Given the description of an element on the screen output the (x, y) to click on. 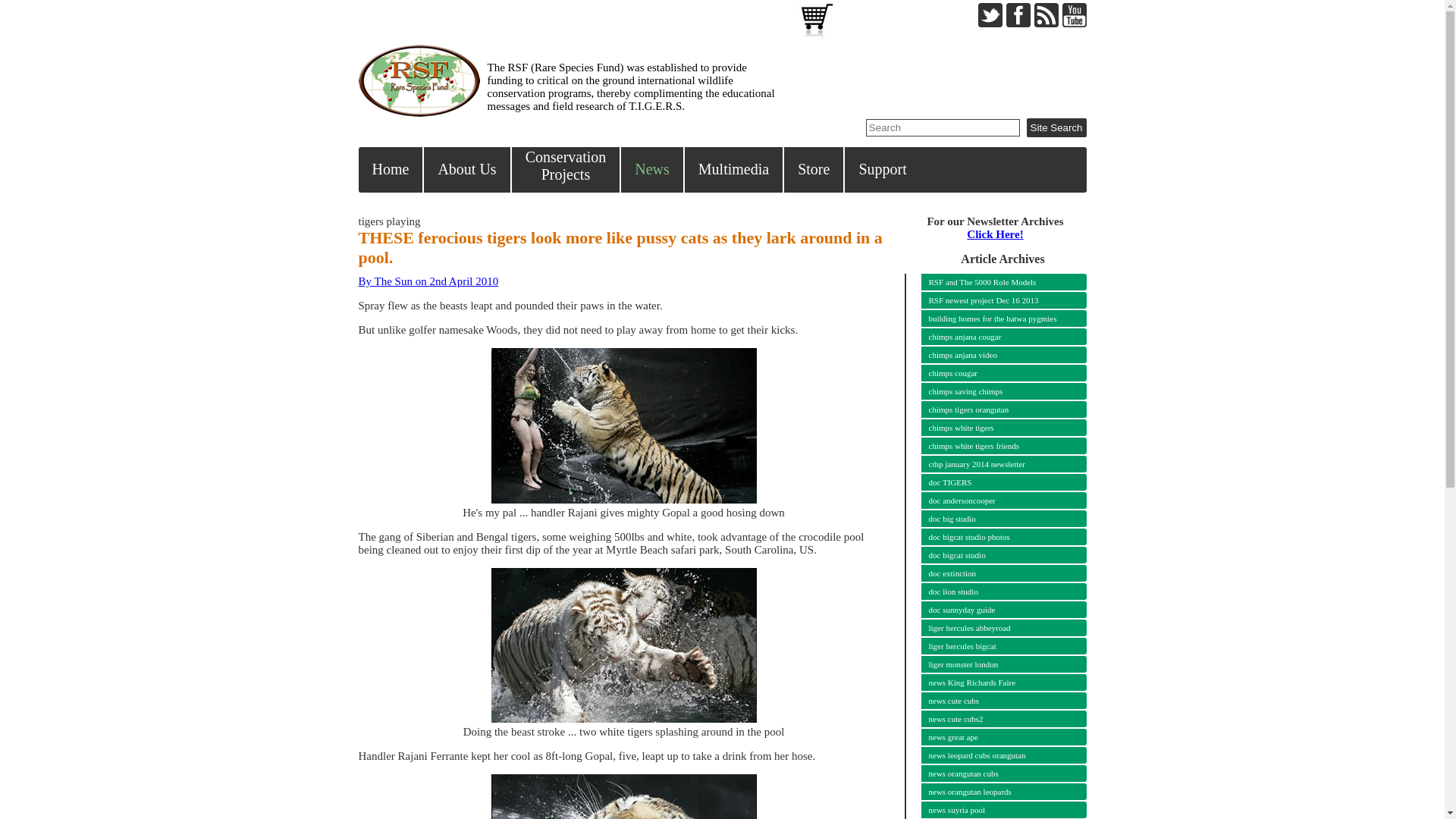
Click Here! (566, 169)
chimps cougar (994, 234)
RSF newest project Dec 16 2013 (995, 372)
Store (995, 299)
News (814, 169)
By The Sun on 2nd April 2010 (652, 169)
About Us (427, 281)
Site Search (467, 169)
building homes for the batwa pygmies (1056, 127)
Site Search (995, 318)
chimps saving chimps (1056, 127)
chimps anjana cougar (995, 391)
chimps anjana video (995, 336)
RSF and The 5000 Role Models (995, 354)
